Given the description of an element on the screen output the (x, y) to click on. 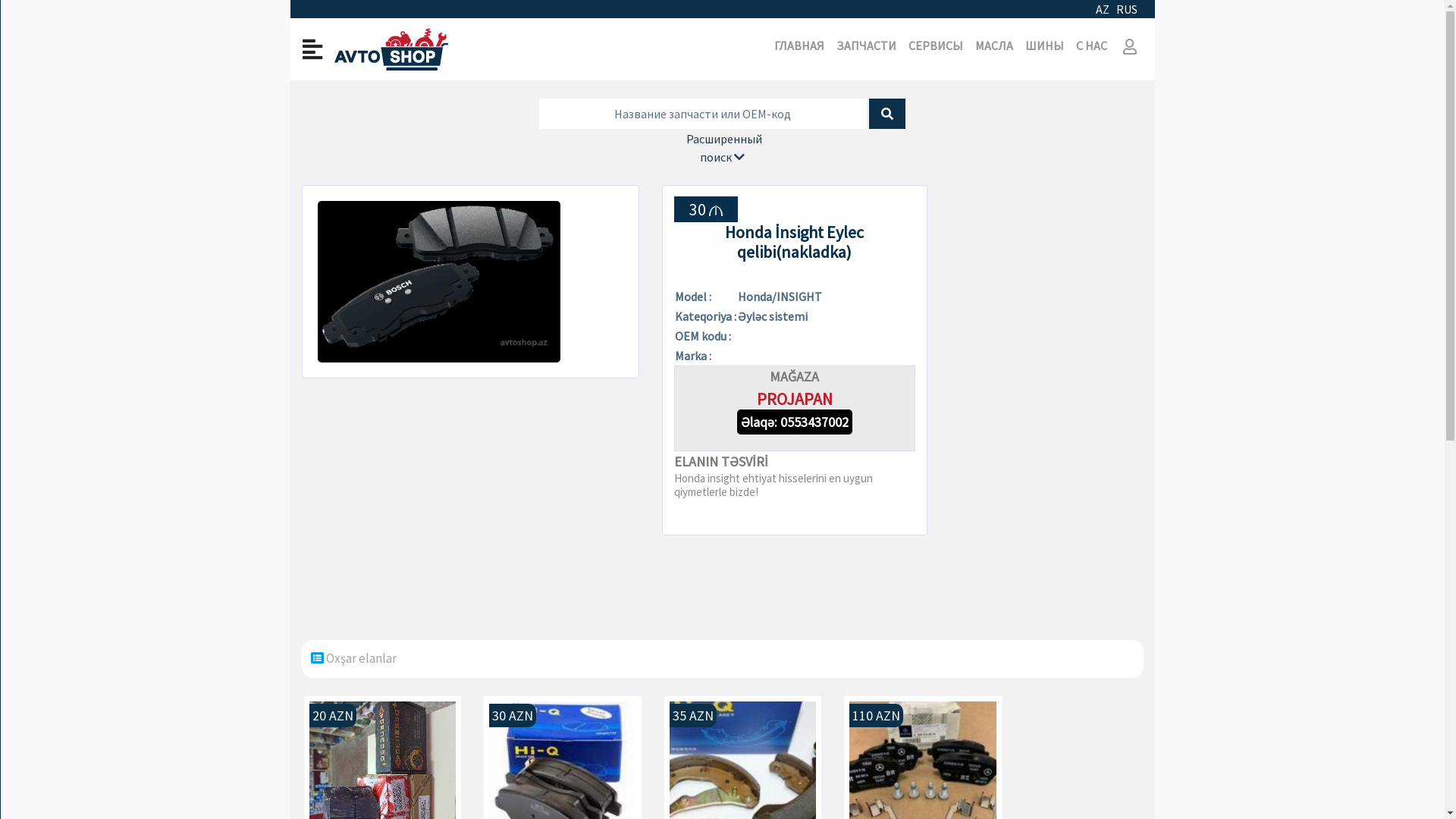
RUS Element type: text (1126, 8)
PROJAPAN Element type: text (794, 398)
AZ Element type: text (1102, 8)
Advertisement Element type: hover (1045, 412)
